Given the description of an element on the screen output the (x, y) to click on. 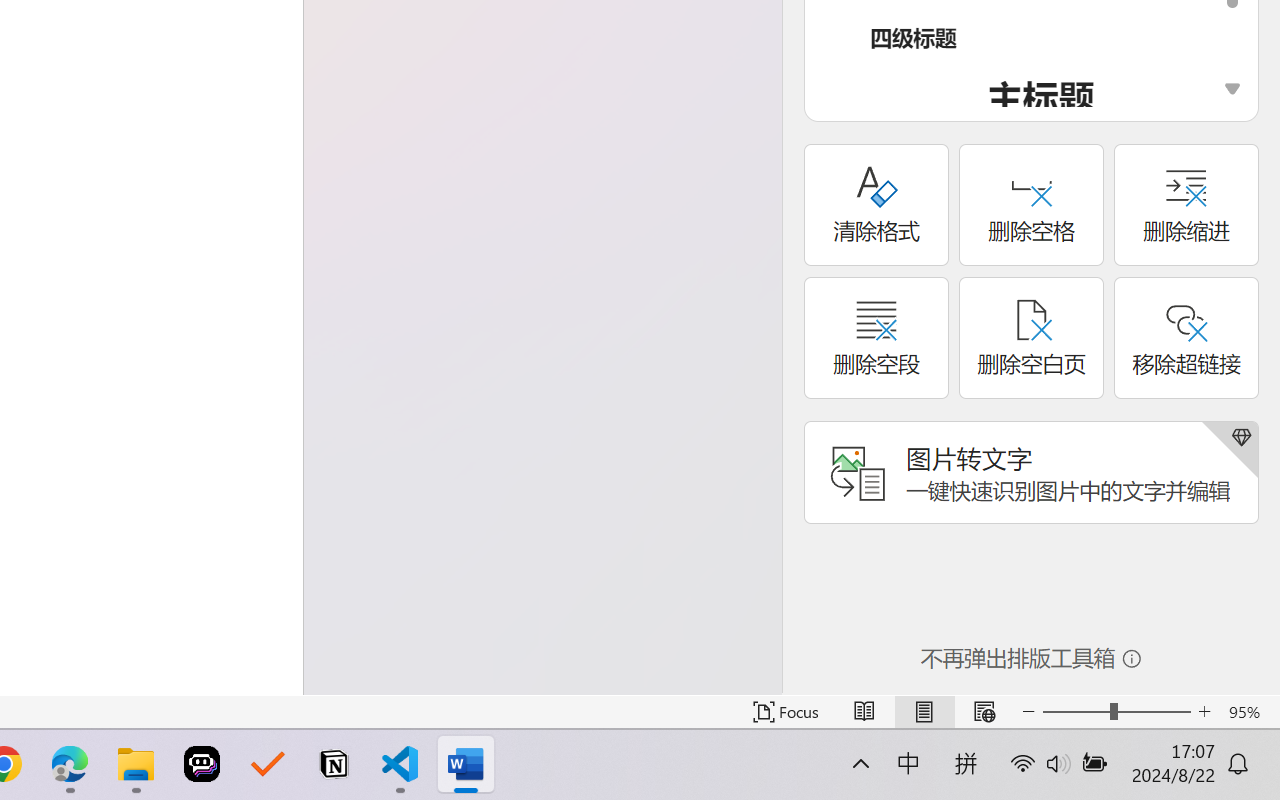
Zoom 95% (1249, 712)
